Given the description of an element on the screen output the (x, y) to click on. 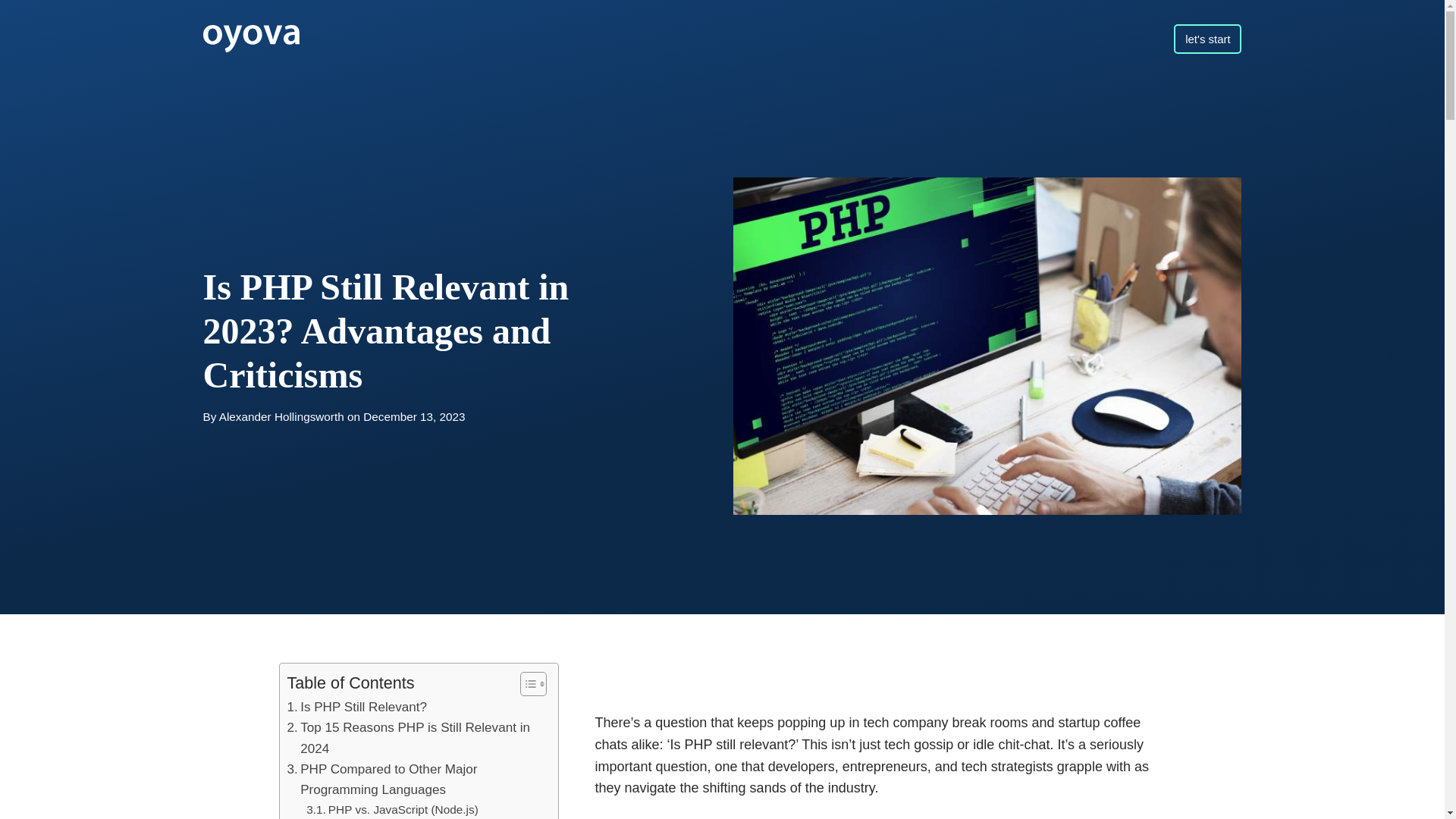
Top 15 Reasons PHP is Still Relevant in 2024 (414, 738)
Is PHP Still Relevant? (356, 706)
Posts by Alexander Hollingsworth (281, 416)
PHP Compared to Other Major Programming Languages (414, 779)
